Given the description of an element on the screen output the (x, y) to click on. 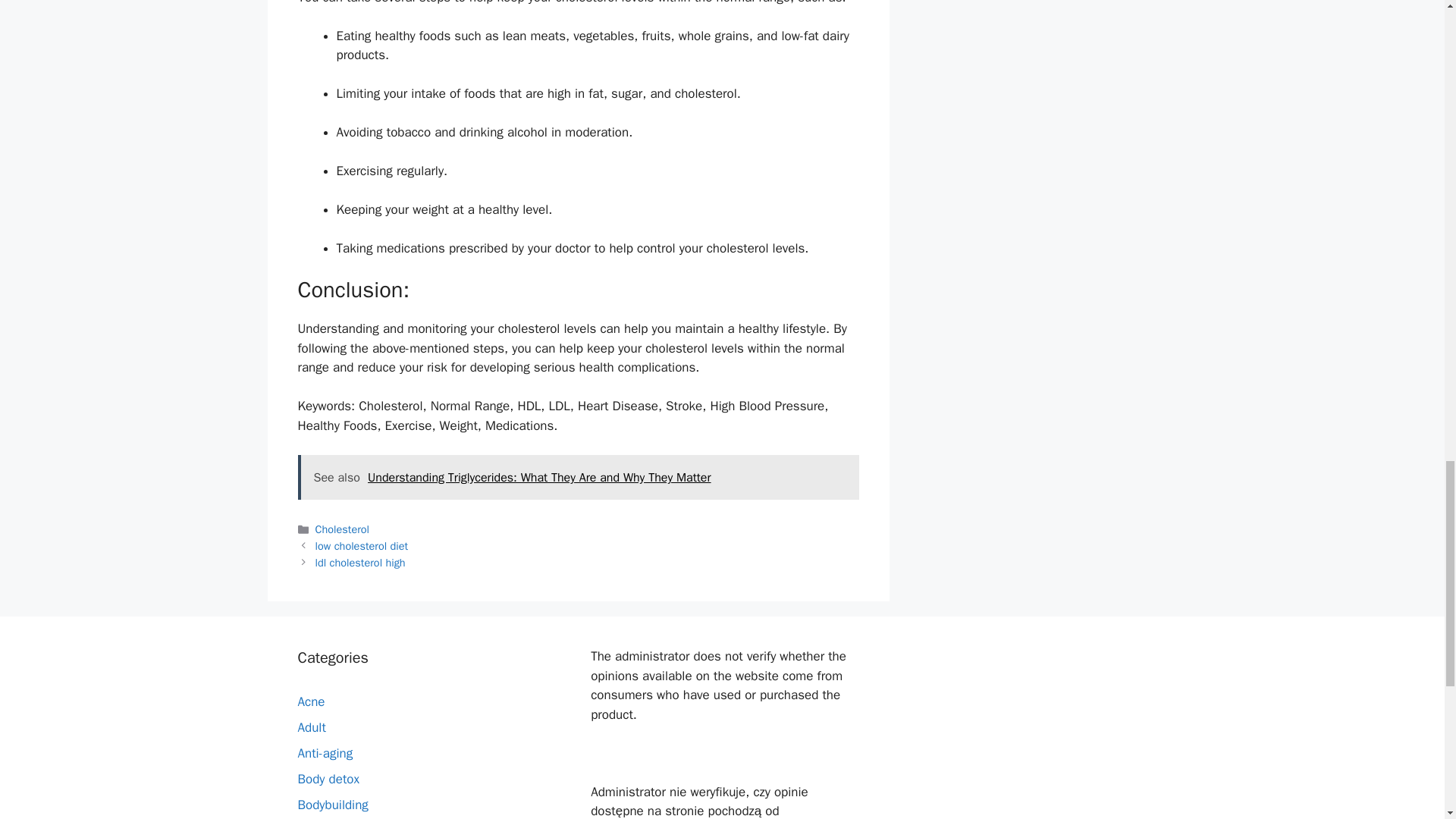
Acne (310, 701)
Body detox (327, 779)
Adult (310, 727)
ldl cholesterol high (360, 562)
Anti-aging (324, 753)
Cholesterol (342, 529)
low cholesterol diet (362, 545)
Bodybuilding (332, 804)
